Given the description of an element on the screen output the (x, y) to click on. 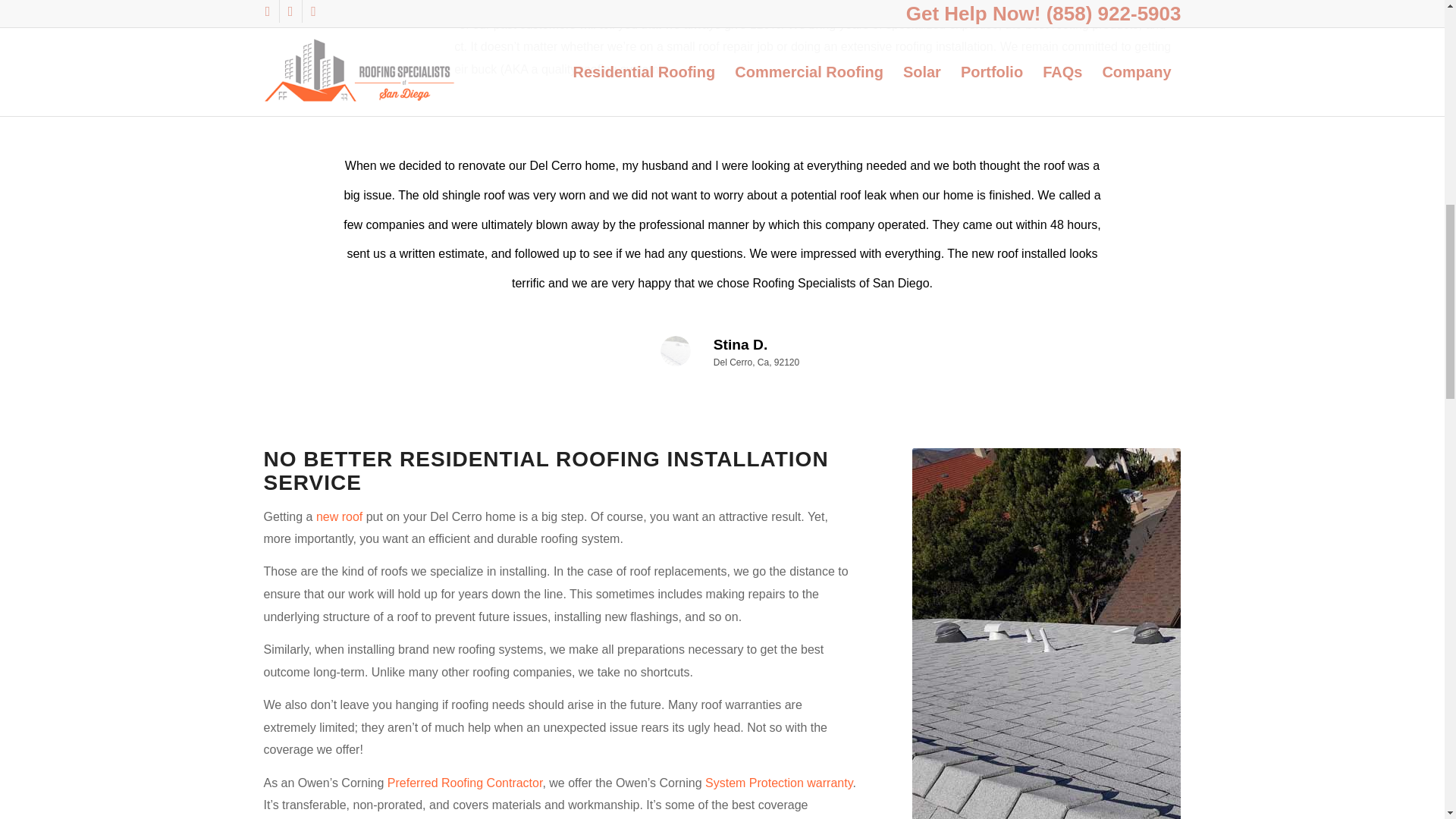
new roof (338, 516)
System Protection warranty (777, 782)
Preferred Roofing Contractor (465, 782)
